Given the description of an element on the screen output the (x, y) to click on. 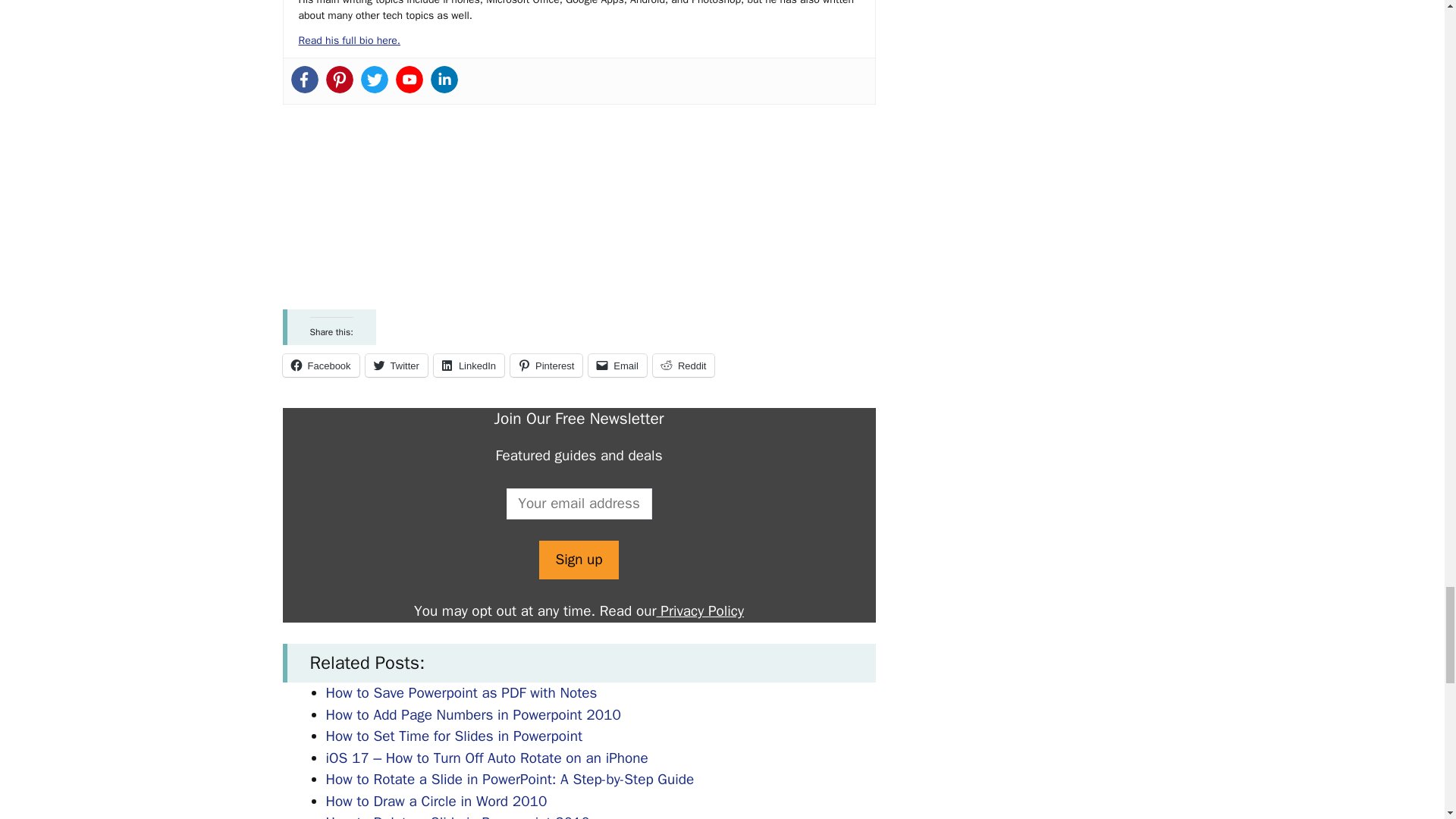
Twitter (396, 364)
Pinterest (546, 364)
Pinterest (339, 79)
How to Set Time for Slides in Powerpoint (454, 736)
Facebook (320, 364)
Click to share on Facebook (320, 364)
Click to share on Twitter (396, 364)
Sign up (577, 559)
LinkedIn (468, 364)
Youtube (409, 79)
